Given the description of an element on the screen output the (x, y) to click on. 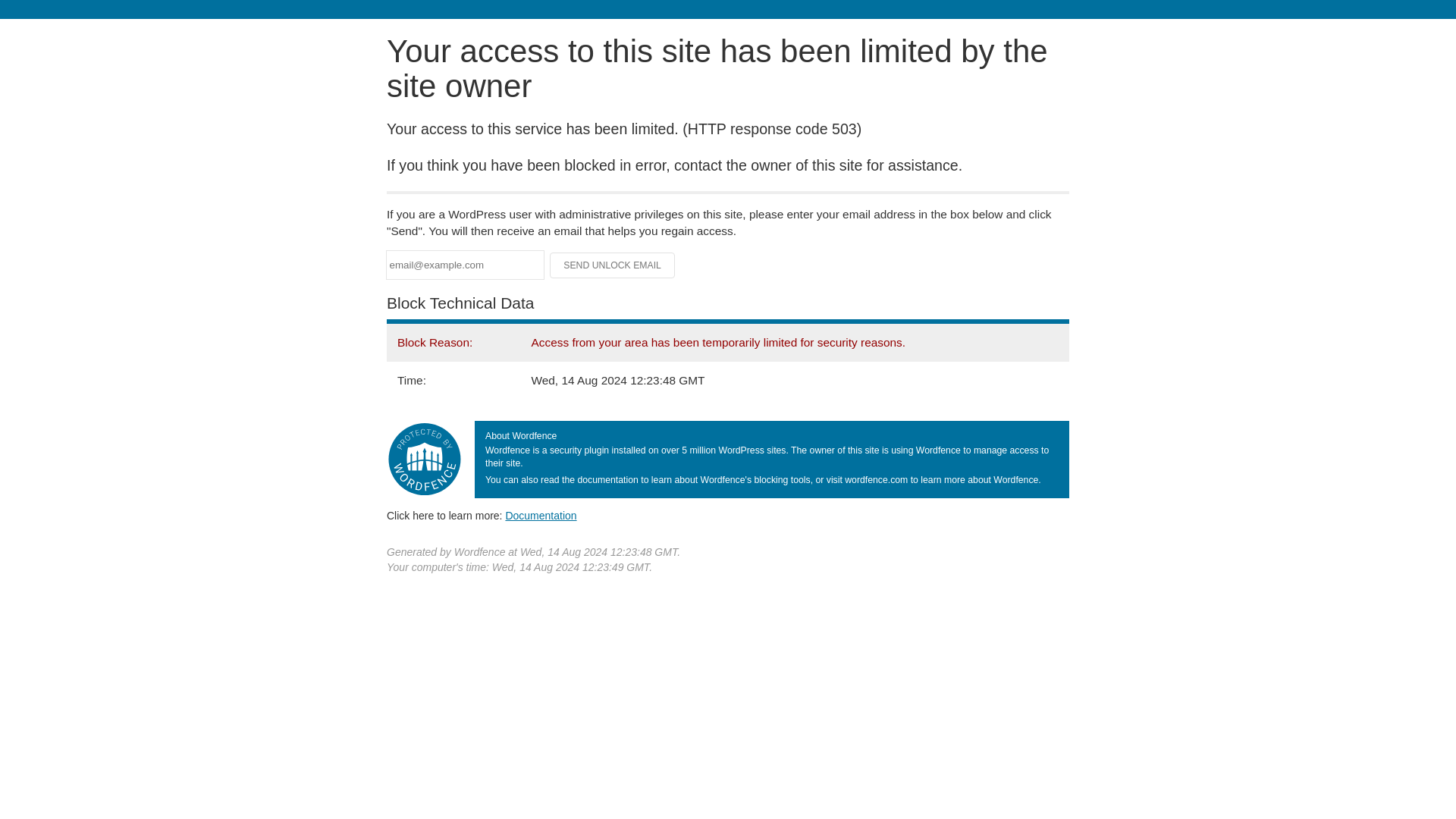
Send Unlock Email (612, 265)
Send Unlock Email (612, 265)
Documentation (540, 515)
